Given the description of an element on the screen output the (x, y) to click on. 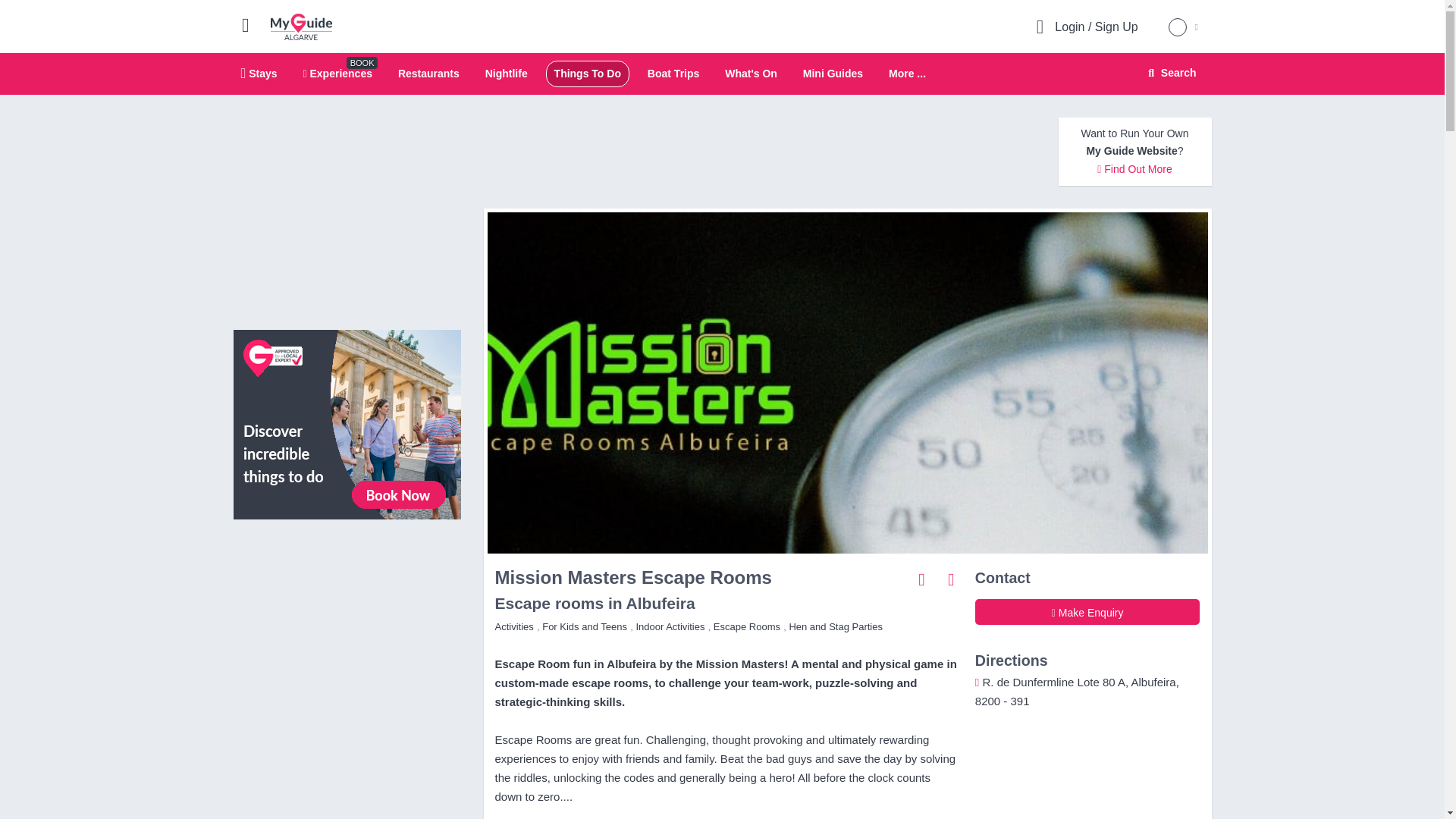
Restaurants (428, 73)
More ... (907, 73)
What's On (751, 73)
Things To Do (587, 73)
Nightlife (505, 73)
Boat Trips (672, 73)
Share with Friends (922, 579)
Search (1169, 72)
Mini Guides (833, 73)
View All Experiences (346, 423)
Experiences (337, 73)
My Guide Algarve (300, 25)
Search Website (1170, 73)
